Given the description of an element on the screen output the (x, y) to click on. 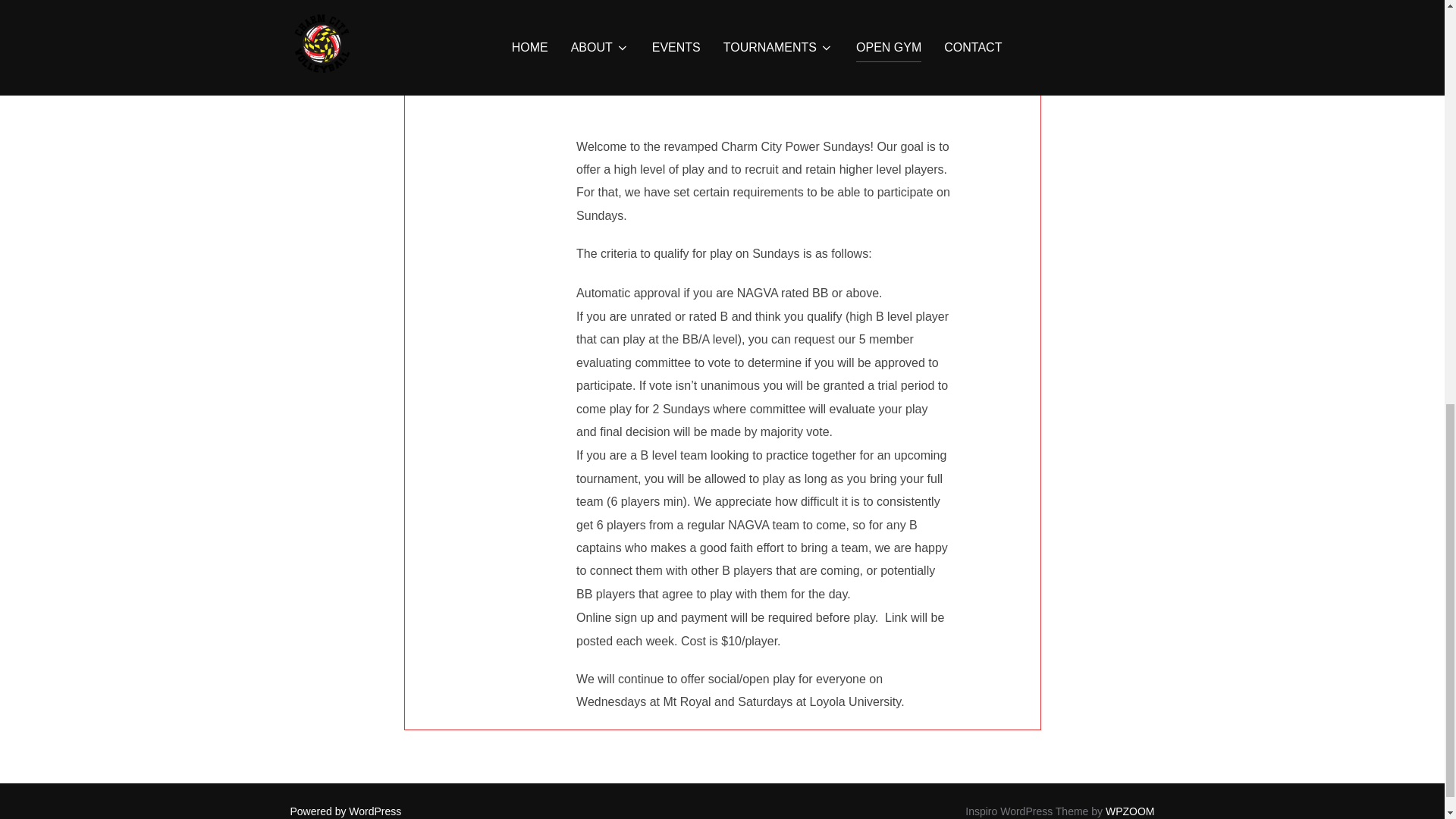
Powered by WordPress (345, 811)
WPZOOM (1129, 811)
